Given the description of an element on the screen output the (x, y) to click on. 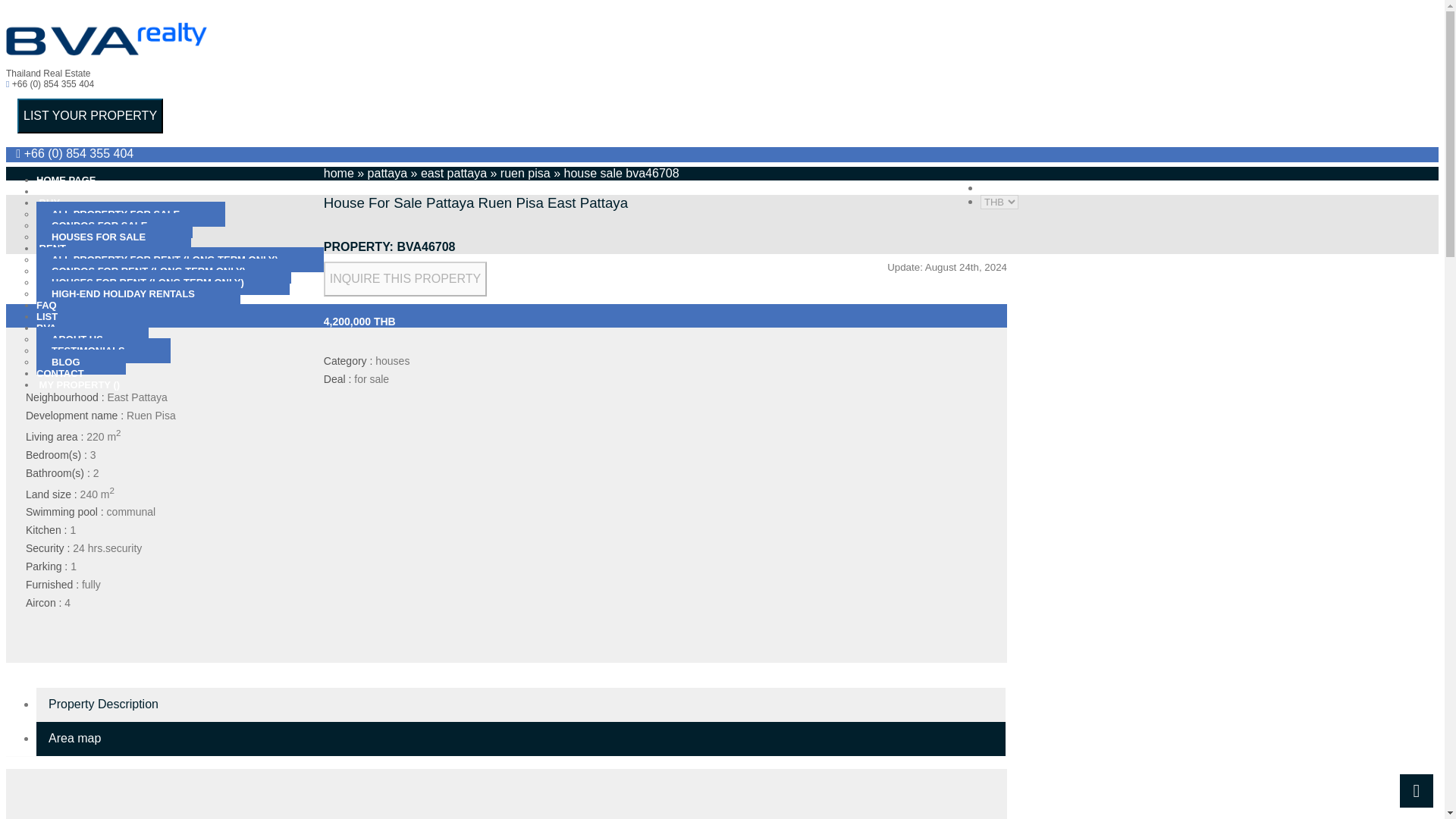
CONDOS FOR SALE (114, 225)
About Us (92, 339)
Condos for sale (114, 225)
Rent Pattaya Real Estate (50, 247)
BVA (46, 327)
FAQ (46, 305)
BVA (46, 327)
HOUSES FOR SALE (113, 236)
Home page (66, 179)
 BUY (47, 202)
